Given the description of an element on the screen output the (x, y) to click on. 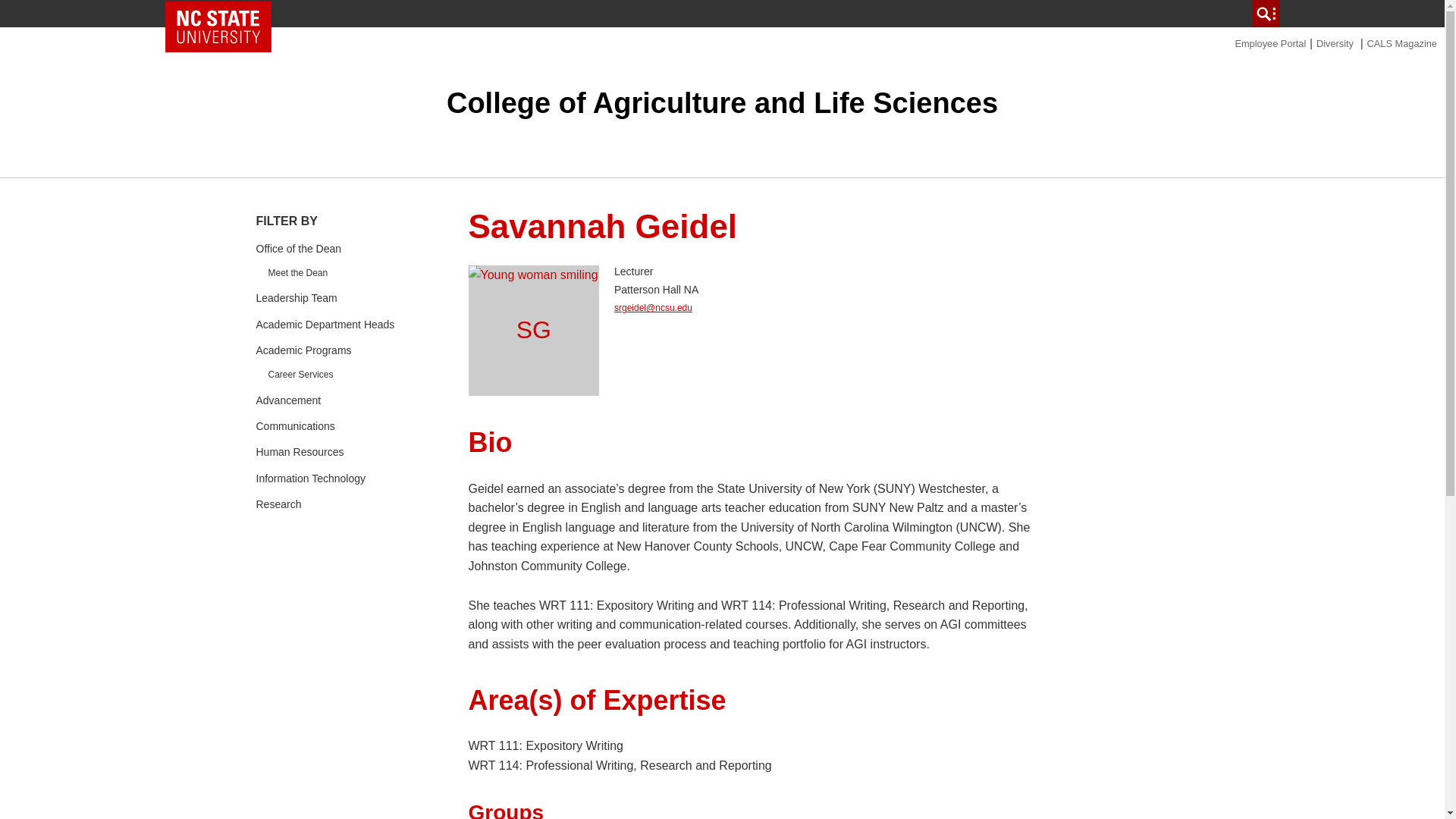
College of Agriculture and Life Sciences (721, 102)
Employee Portal (1270, 43)
NC State Home (217, 26)
Diversity (1335, 43)
CALS Magazine (1402, 43)
